Given the description of an element on the screen output the (x, y) to click on. 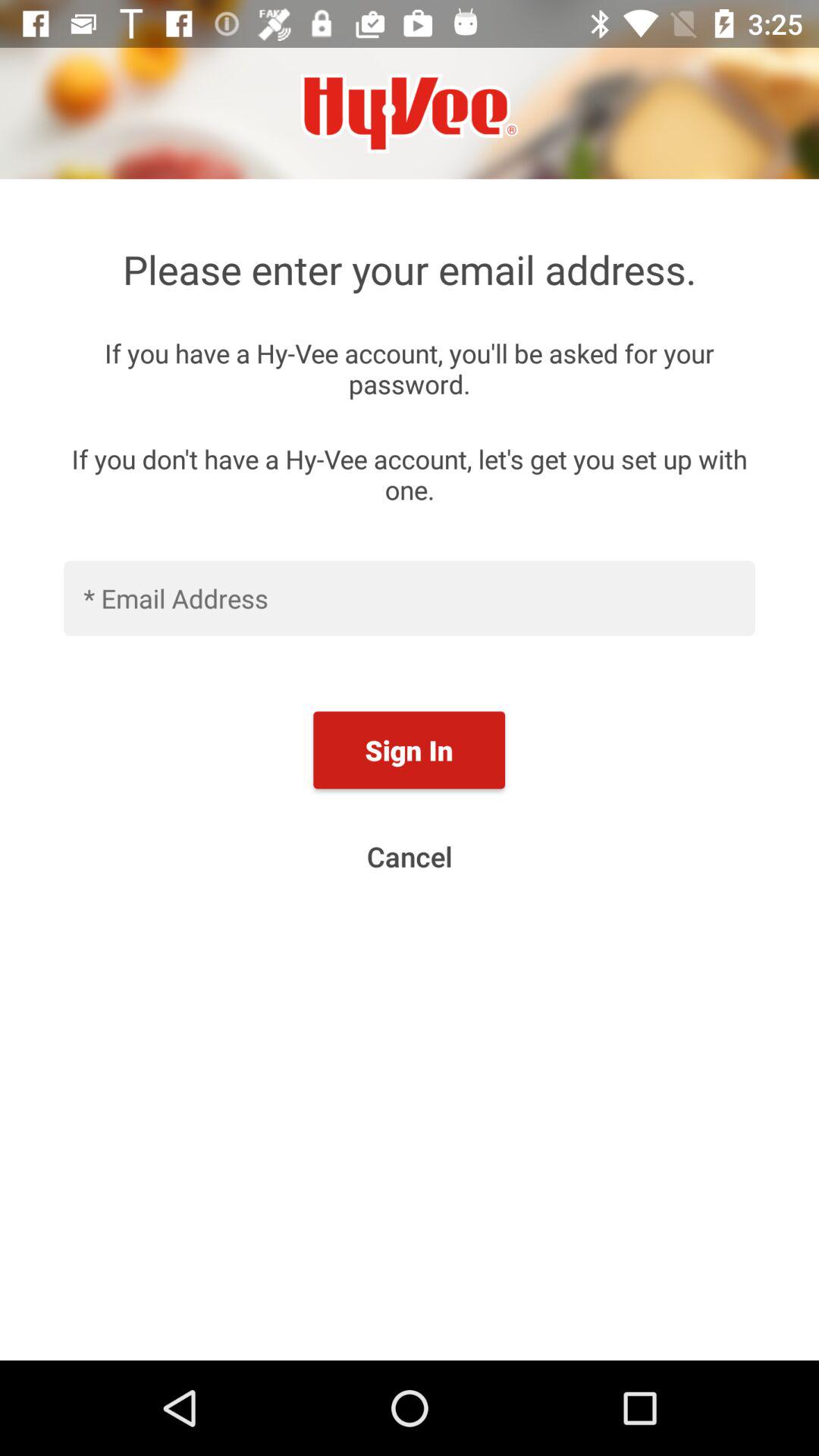
scroll until the cancel icon (409, 856)
